Given the description of an element on the screen output the (x, y) to click on. 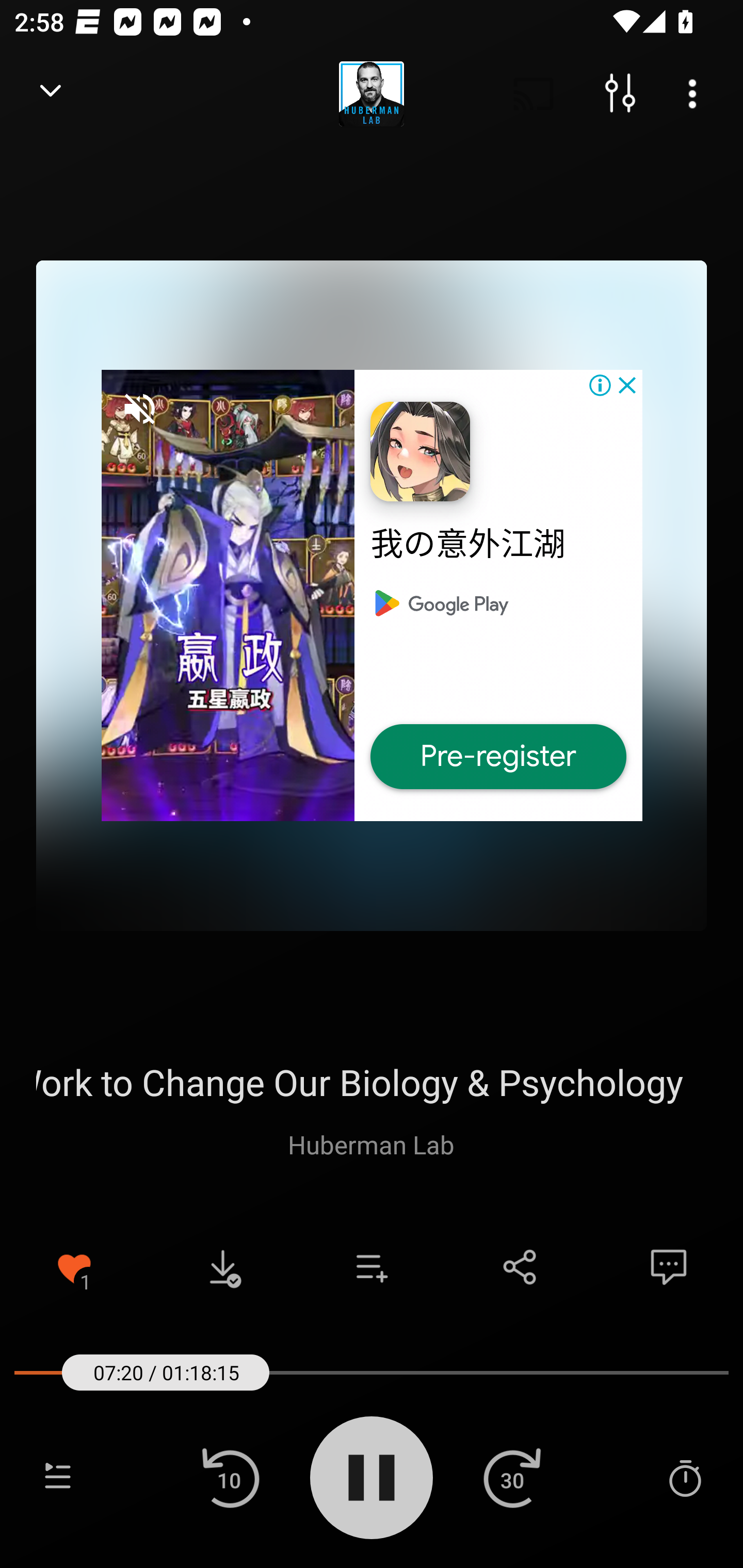
 Back (50, 94)
我の意外江湖 Pre-register Pre-register (371, 595)
Pre-register (498, 757)
Huberman Lab (370, 1144)
Comments (668, 1266)
Remove from Favorites (73, 1266)
Add to playlist (371, 1266)
Share (519, 1266)
 Playlist (57, 1477)
Sleep Timer  (684, 1477)
